Given the description of an element on the screen output the (x, y) to click on. 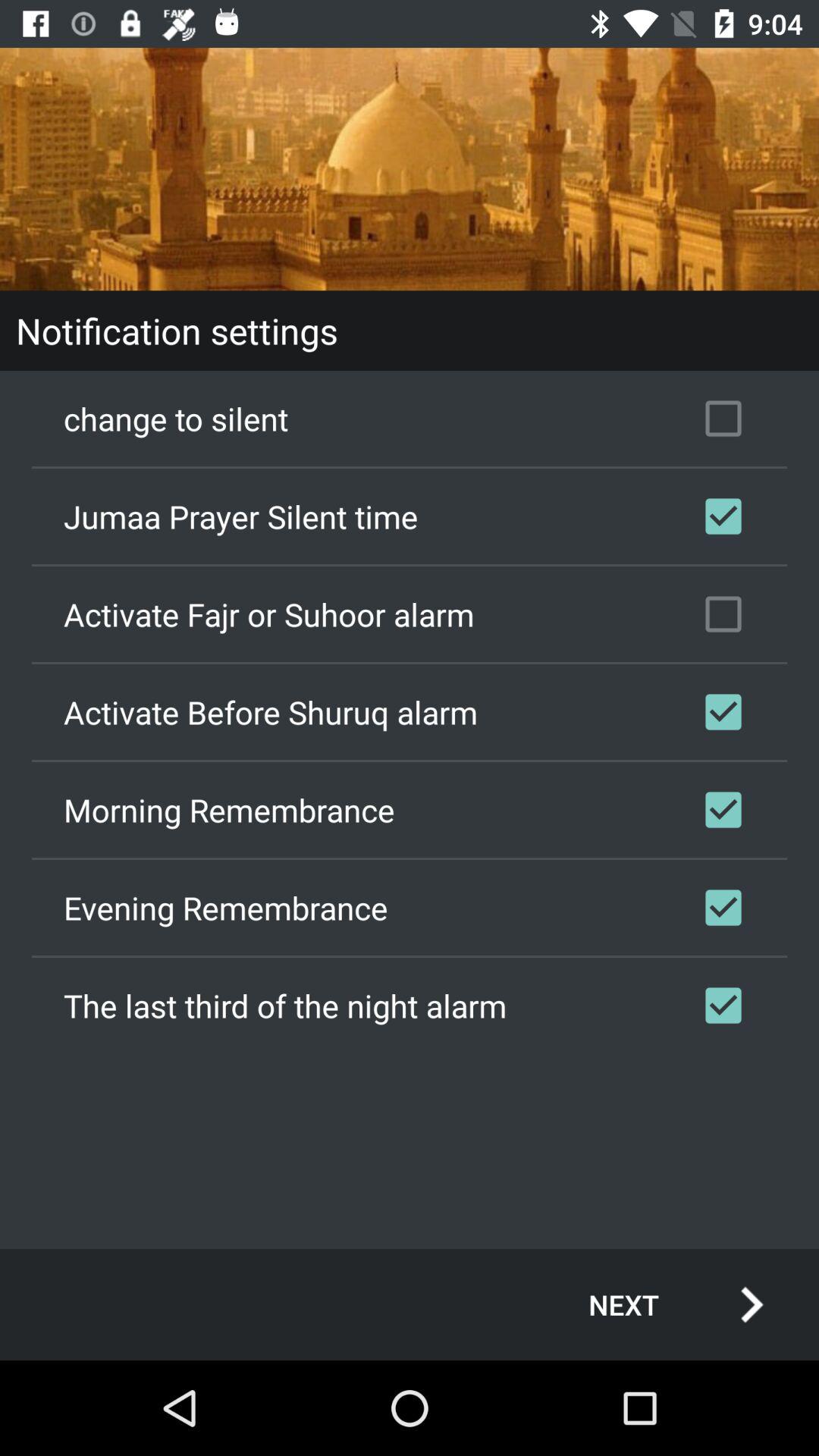
turn on the icon above the morning remembrance icon (409, 711)
